Given the description of an element on the screen output the (x, y) to click on. 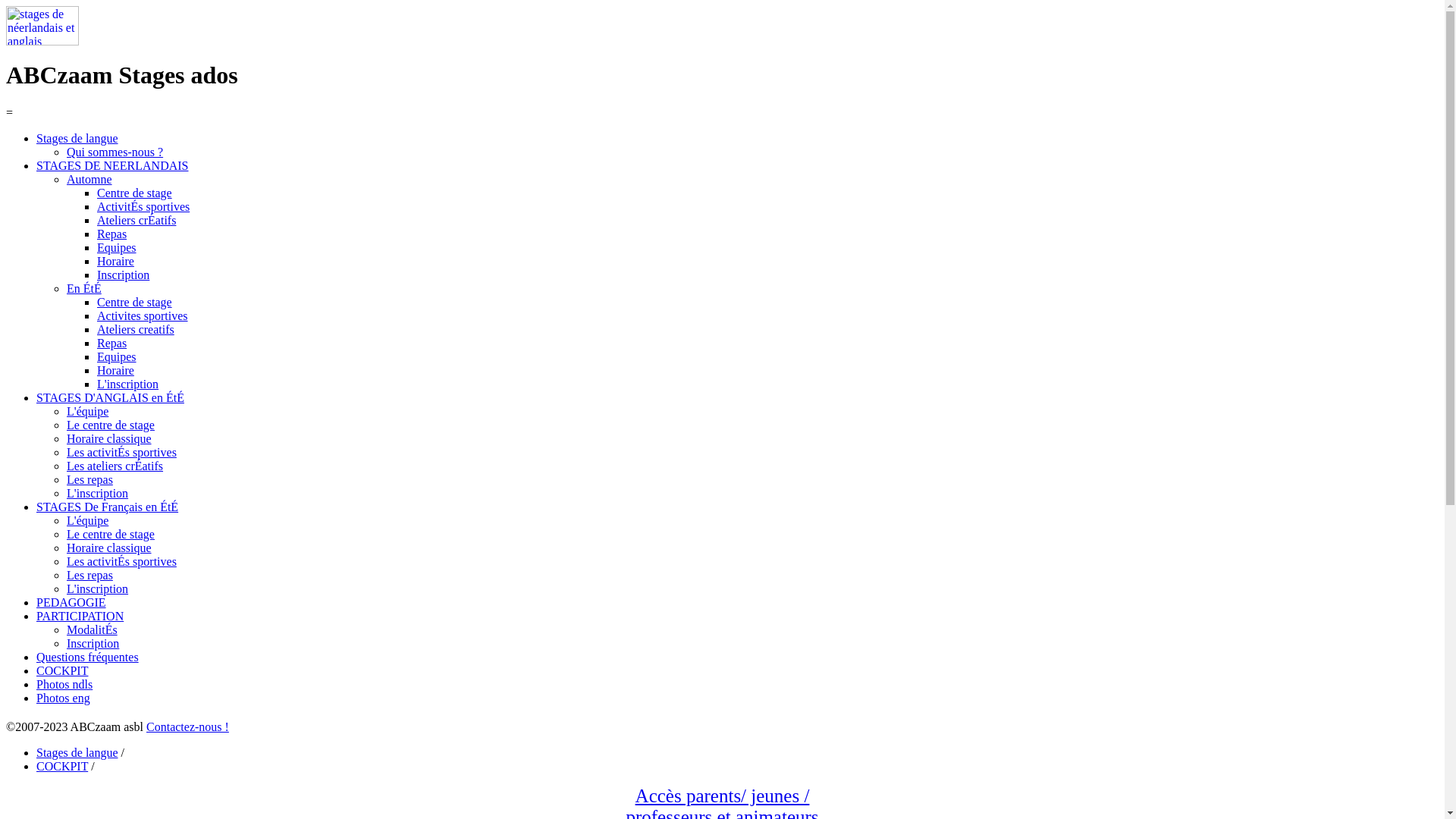
Qui sommes-nous ? Element type: text (114, 151)
Ateliers creatifs Element type: text (135, 329)
Activites sportives Element type: text (142, 315)
Le centre de stage Element type: text (110, 533)
Centre de stage Element type: text (134, 301)
Inscription Element type: text (123, 274)
Centre de stage Element type: text (134, 192)
Les repas Element type: text (89, 574)
Stages de langue Element type: text (77, 752)
L'inscription Element type: text (97, 492)
Repas Element type: text (111, 342)
Repas Element type: text (111, 233)
Horaire classique Element type: text (108, 547)
Photos ndls Element type: text (64, 683)
Horaire classique Element type: text (108, 438)
L'inscription Element type: text (127, 383)
Stages de langue Element type: text (77, 137)
COCKPIT Element type: text (61, 670)
Photos eng Element type: text (63, 697)
Contactez-nous ! Element type: text (187, 726)
L'inscription Element type: text (97, 588)
Le centre de stage Element type: text (110, 424)
Automne Element type: text (89, 178)
PEDAGOGIE Element type: text (71, 602)
PARTICIPATION Element type: text (79, 615)
Inscription Element type: text (92, 643)
Horaire Element type: text (115, 260)
Equipes Element type: text (116, 247)
Horaire Element type: text (115, 370)
STAGES DE NEERLANDAIS Element type: text (112, 165)
Equipes Element type: text (116, 356)
COCKPIT Element type: text (61, 765)
Les repas Element type: text (89, 479)
